Given the description of an element on the screen output the (x, y) to click on. 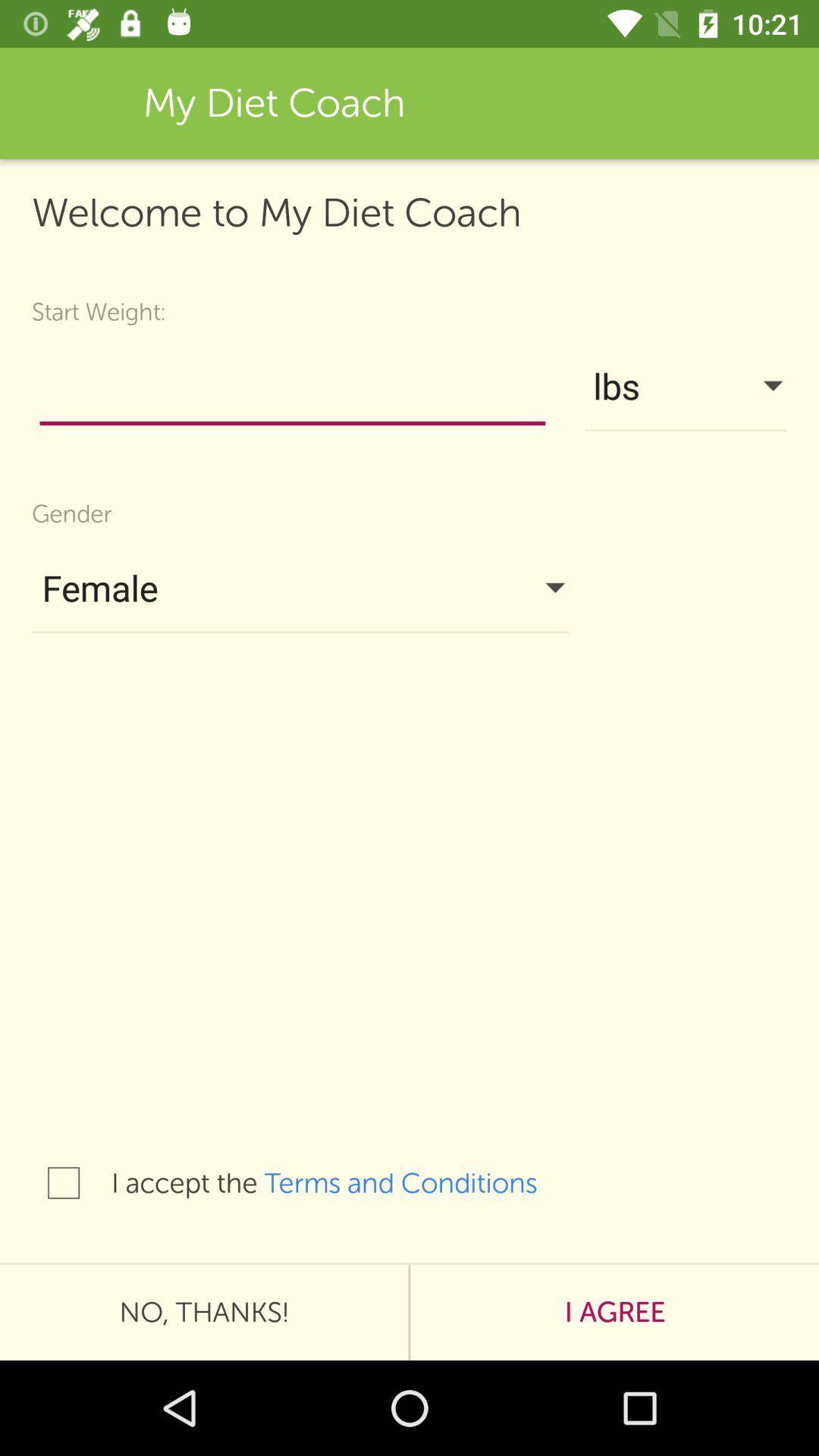
swipe to terms and conditions item (416, 1182)
